Given the description of an element on the screen output the (x, y) to click on. 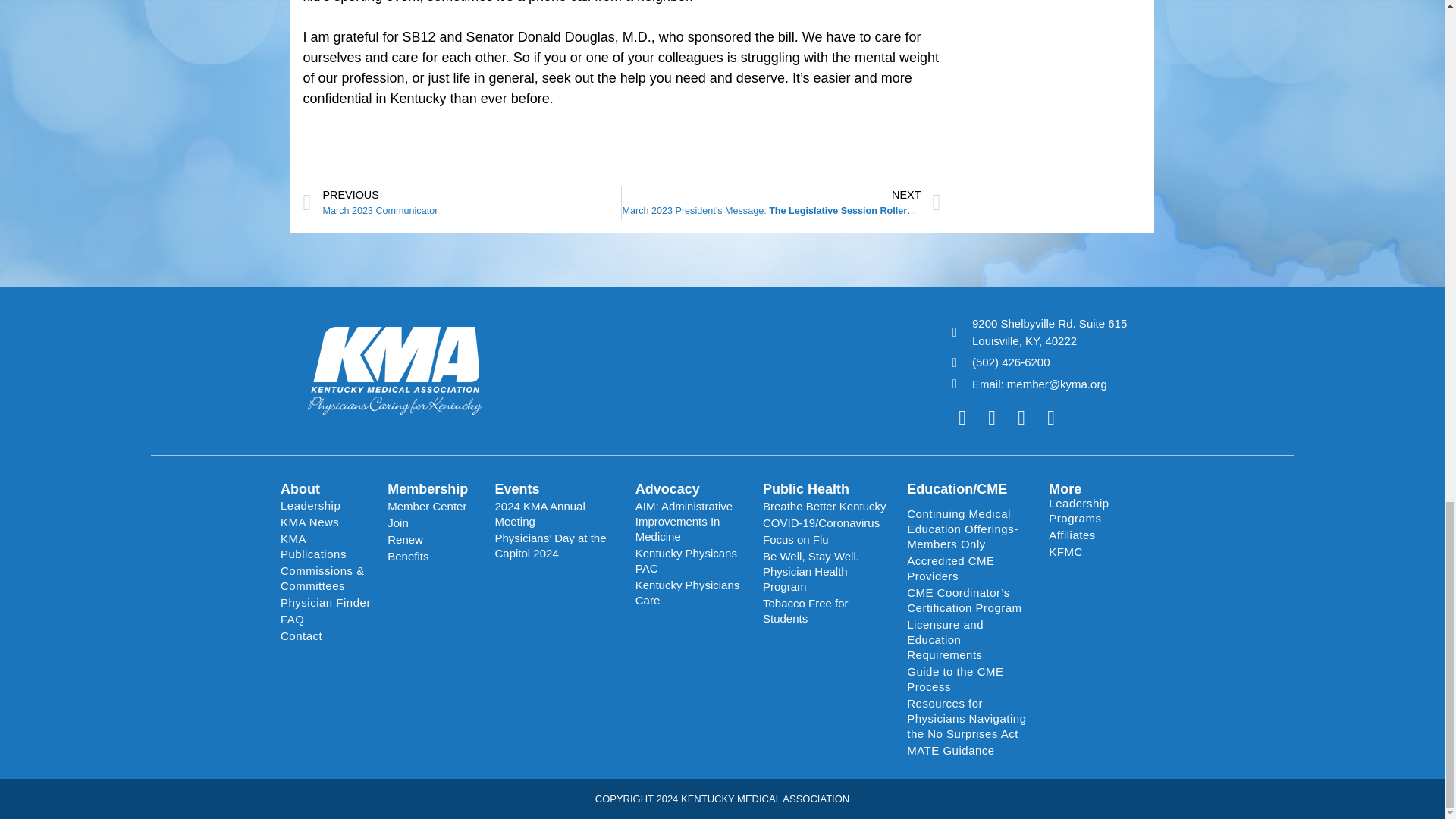
Leadership (326, 505)
Physician Finder (326, 602)
FAQ (326, 619)
About (300, 488)
KMA Publications (326, 546)
Contact (326, 636)
KMA News (461, 202)
